Given the description of an element on the screen output the (x, y) to click on. 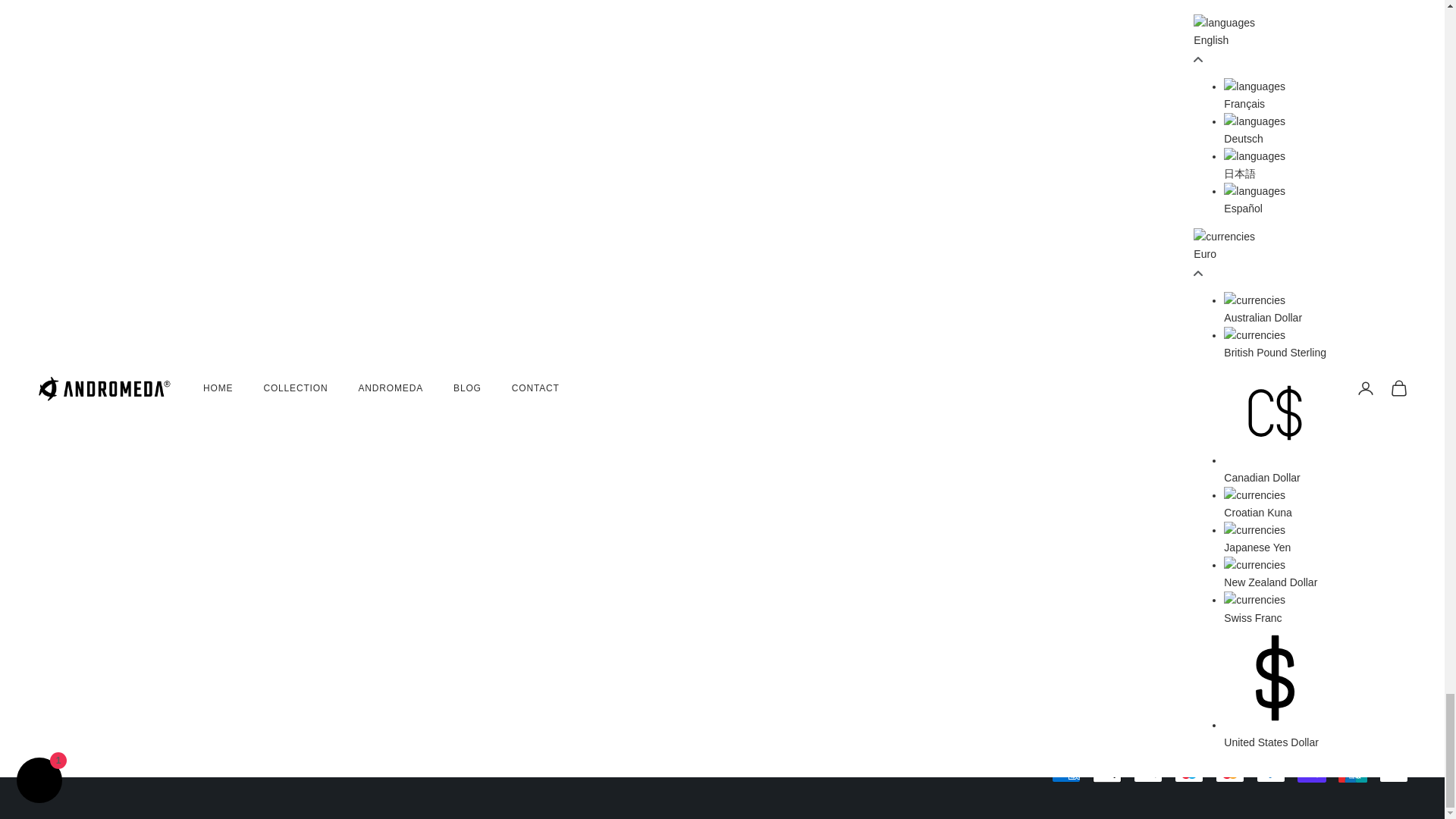
Store (1172, 375)
